Given the description of an element on the screen output the (x, y) to click on. 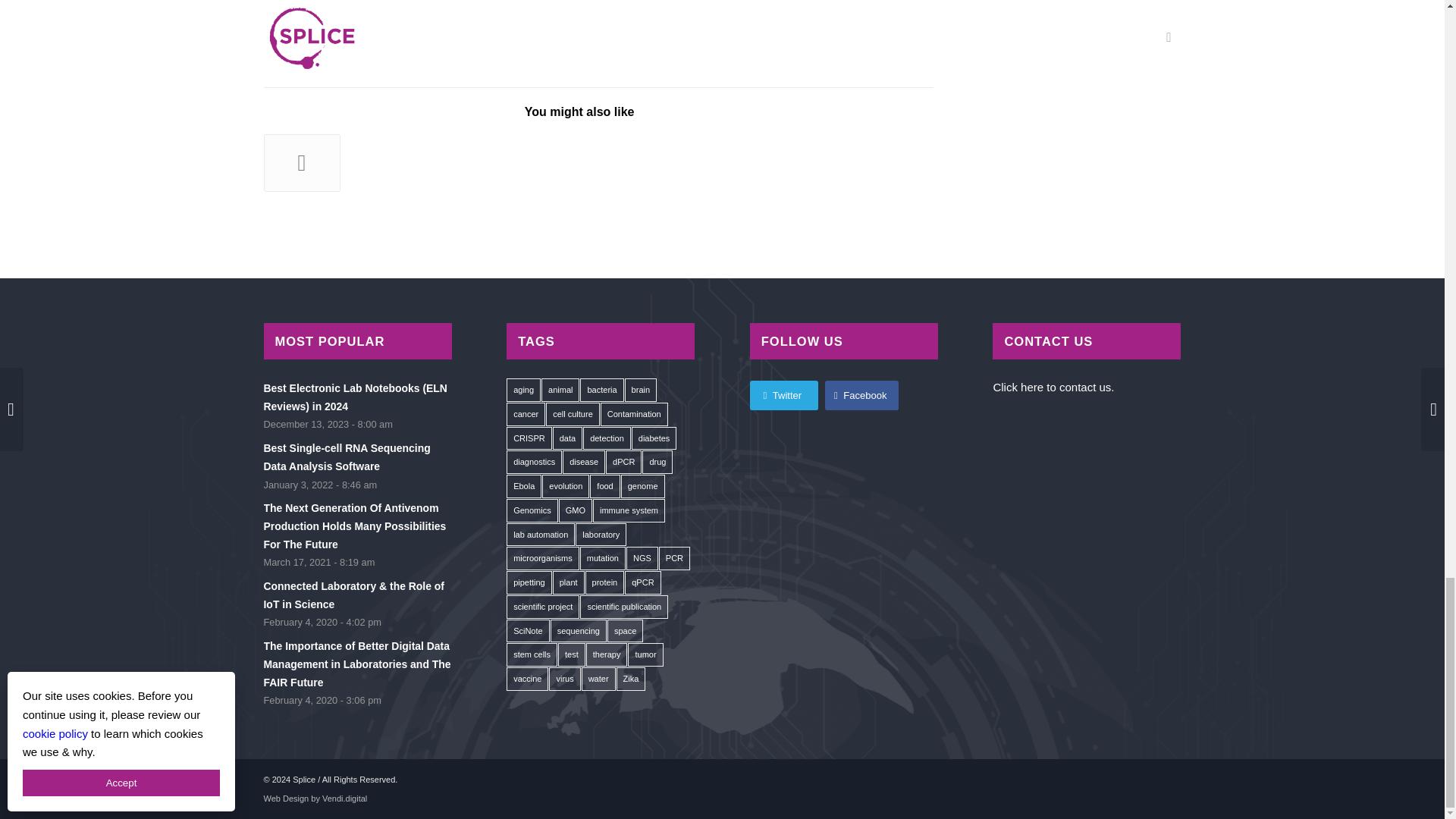
Understanding Neuroblastoma with Fluorescent Zebrafish Genes (459, 157)
Can Parents Transmit Memories to Their Offspring? (380, 155)
